Given the description of an element on the screen output the (x, y) to click on. 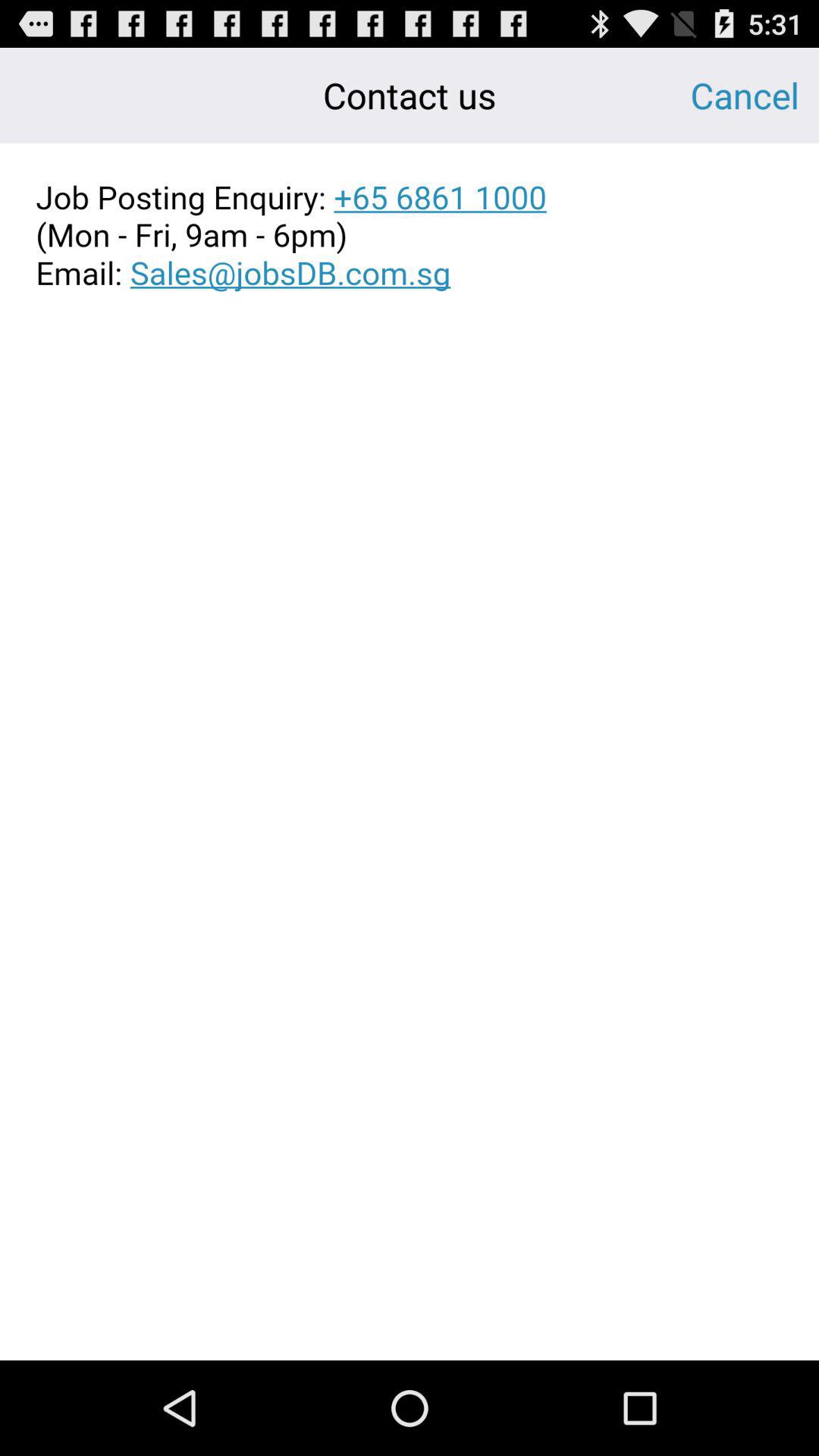
cotact us option (409, 235)
